Given the description of an element on the screen output the (x, y) to click on. 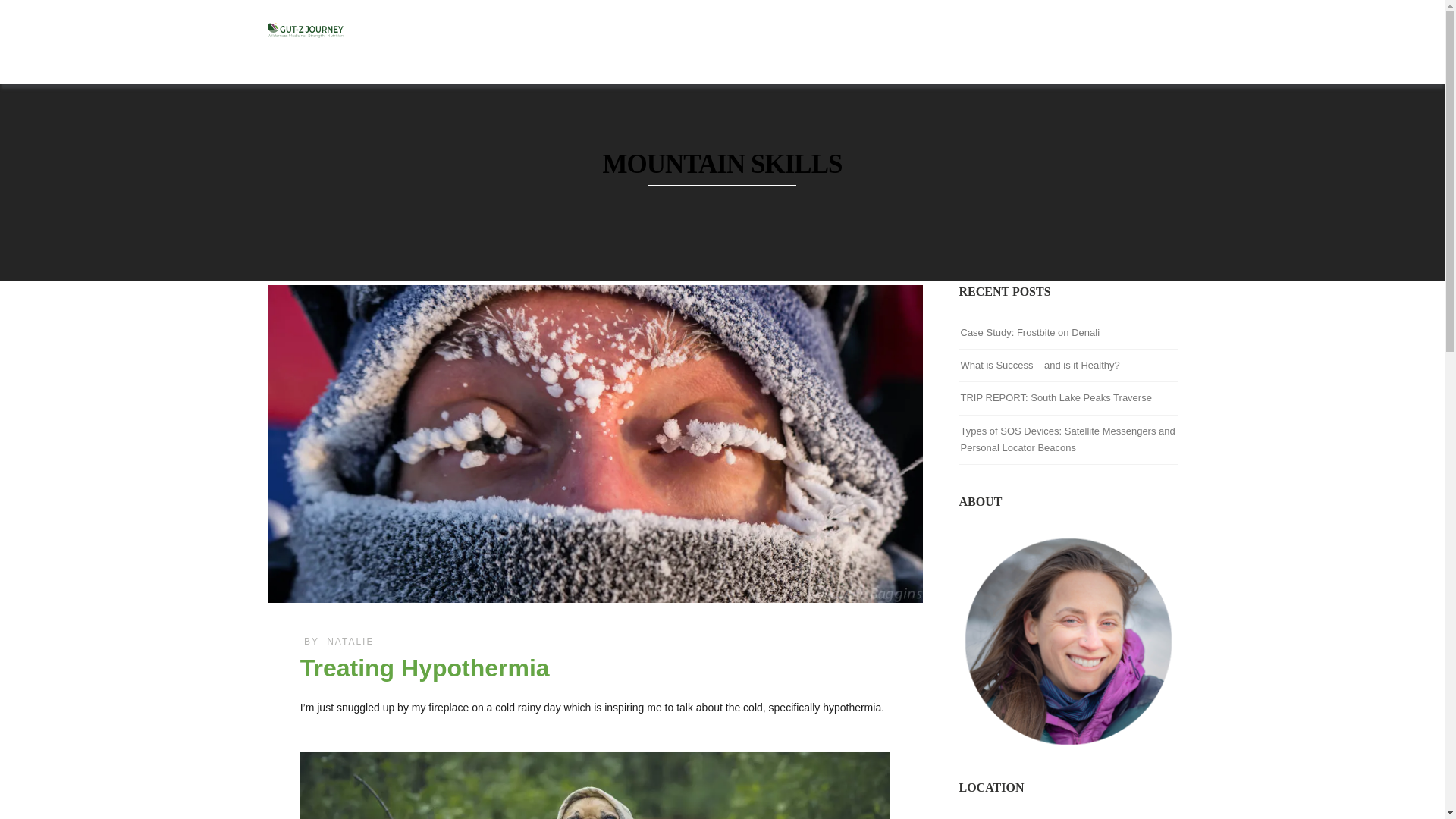
Case Study: Frostbite on Denali (1029, 332)
ABOUT (1138, 51)
WILDERNESS MEDICINE (732, 51)
BLOG (1083, 51)
Treating Hypothermia (424, 667)
NATALIE (350, 641)
NUTRITION (1015, 51)
